Given the description of an element on the screen output the (x, y) to click on. 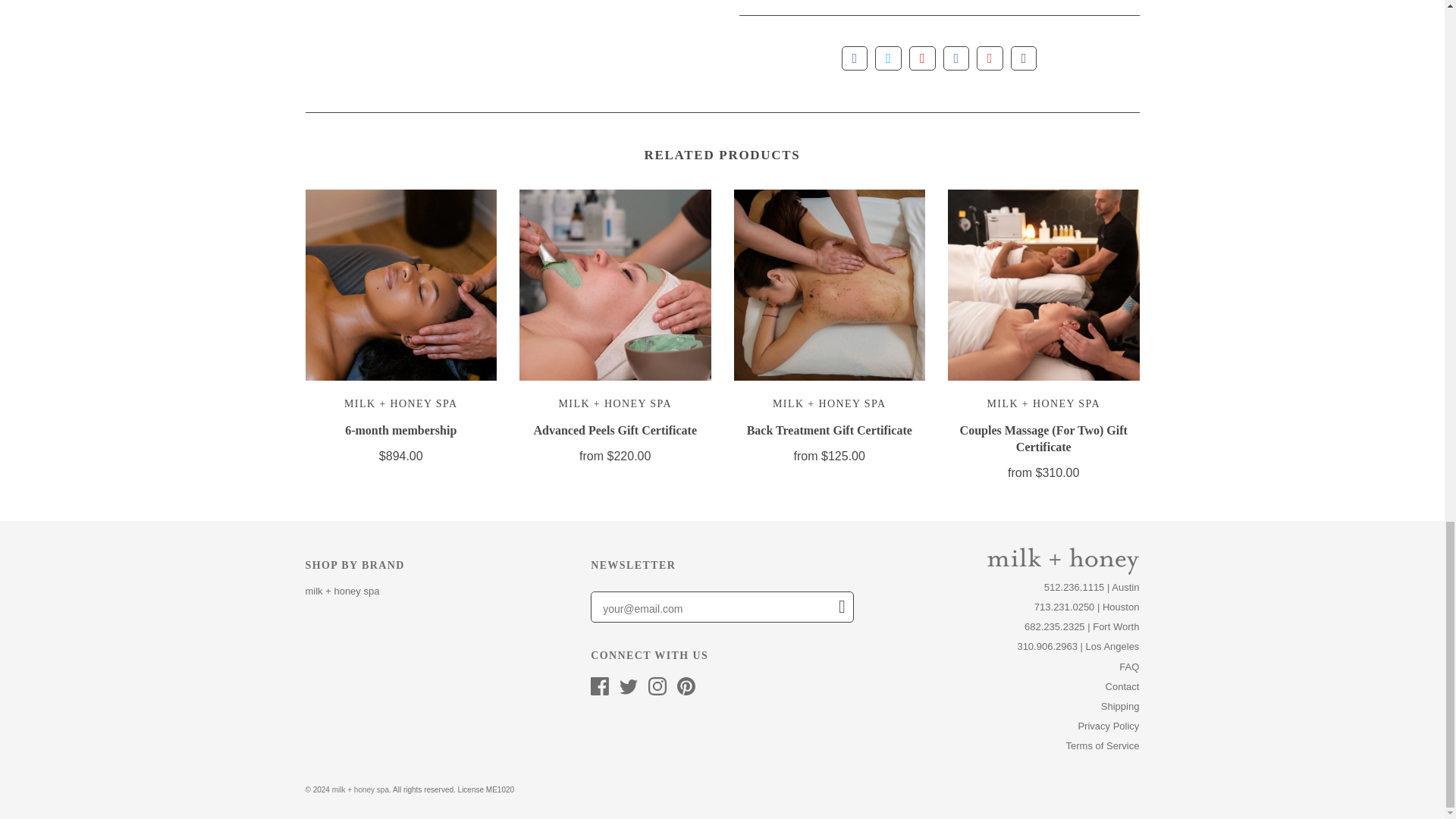
Pinterest (686, 686)
Instagram (656, 686)
Back Treatment Gift Certificate (829, 430)
Pin it (922, 57)
Email (1023, 57)
Like (854, 57)
Tweet (888, 57)
Advanced Peels Gift Certificate (615, 430)
Twitter (628, 686)
Fancy (956, 57)
Facebook (599, 686)
6-month membership (401, 430)
